Given the description of an element on the screen output the (x, y) to click on. 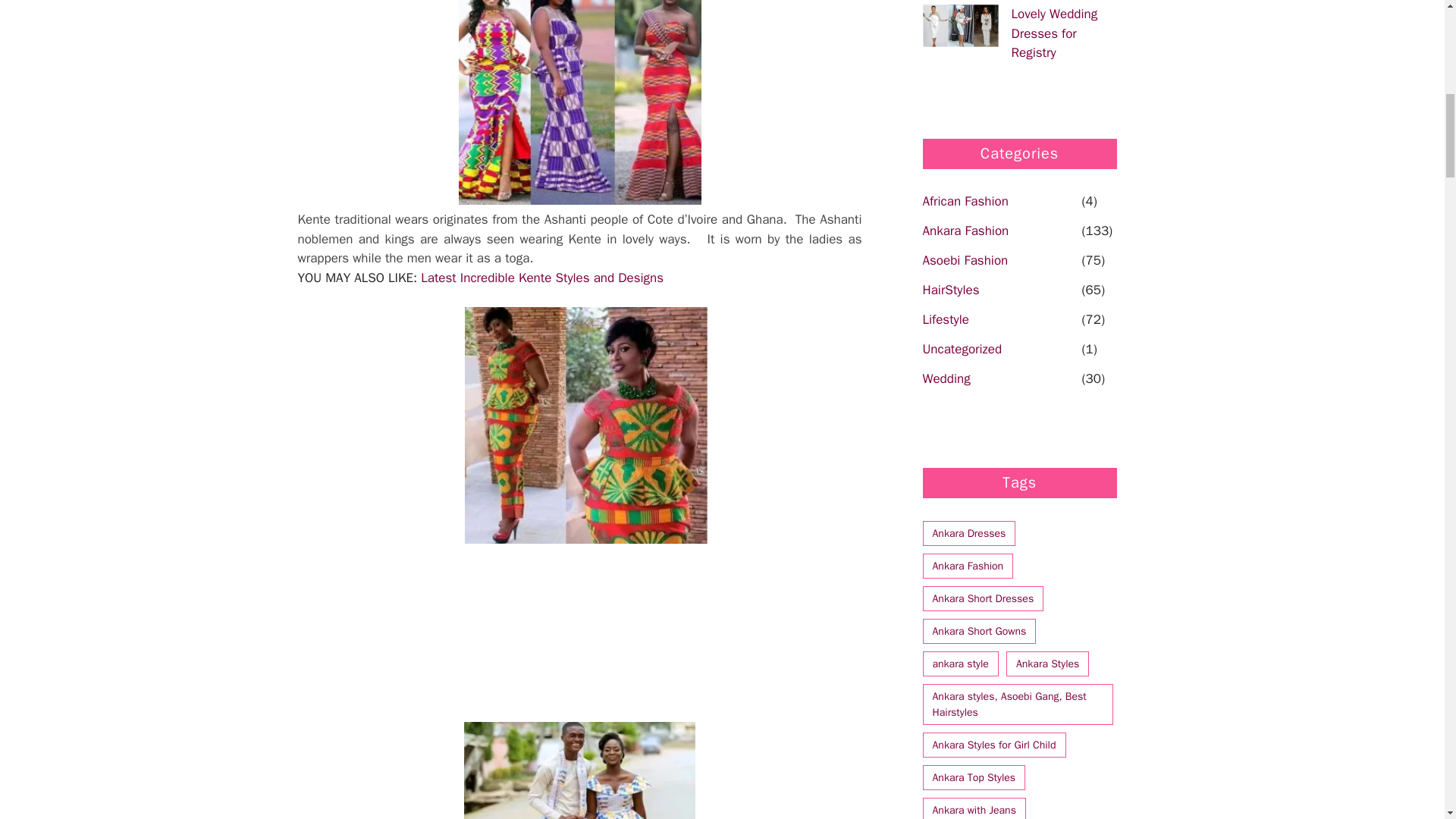
Scroll back to top (1406, 720)
Latest Incredible Kente Styles and Designs (541, 277)
